Given the description of an element on the screen output the (x, y) to click on. 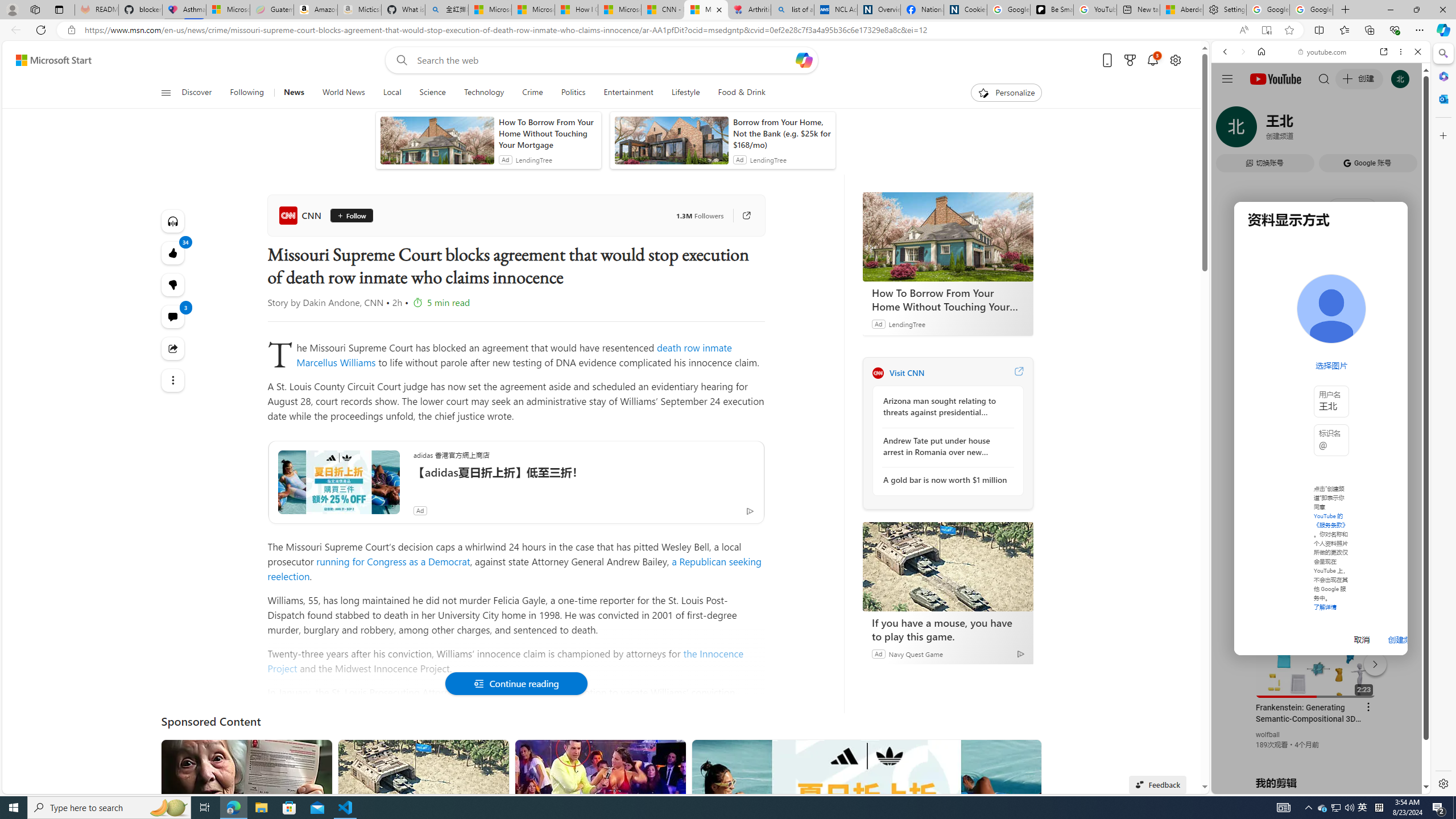
A gold bar is now worth $1 million (944, 480)
CNN - MSN (662, 9)
Visit CNN website (1018, 372)
YouTube (1315, 655)
